Given the description of an element on the screen output the (x, y) to click on. 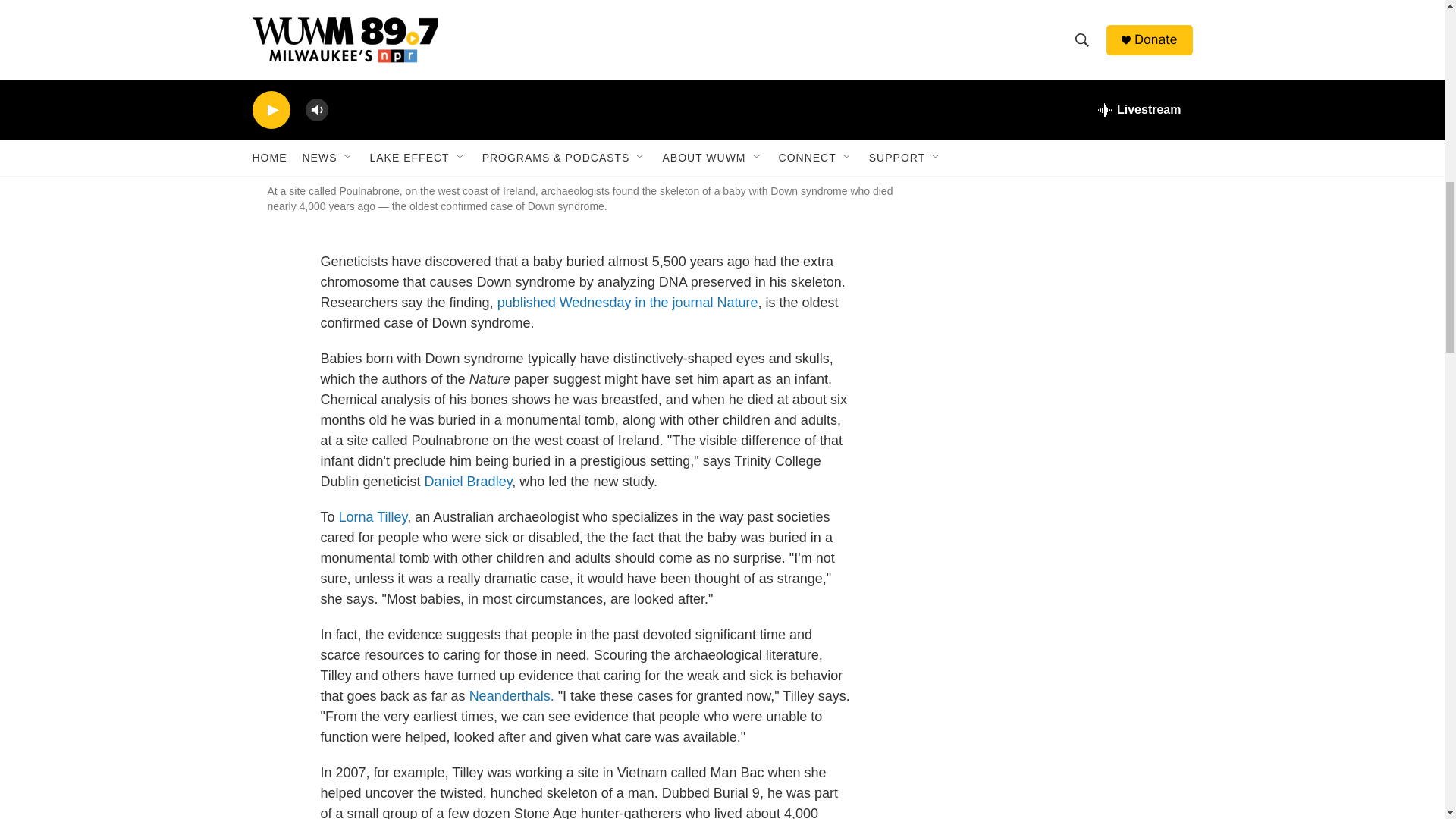
3rd party ad content (1062, 80)
